Given the description of an element on the screen output the (x, y) to click on. 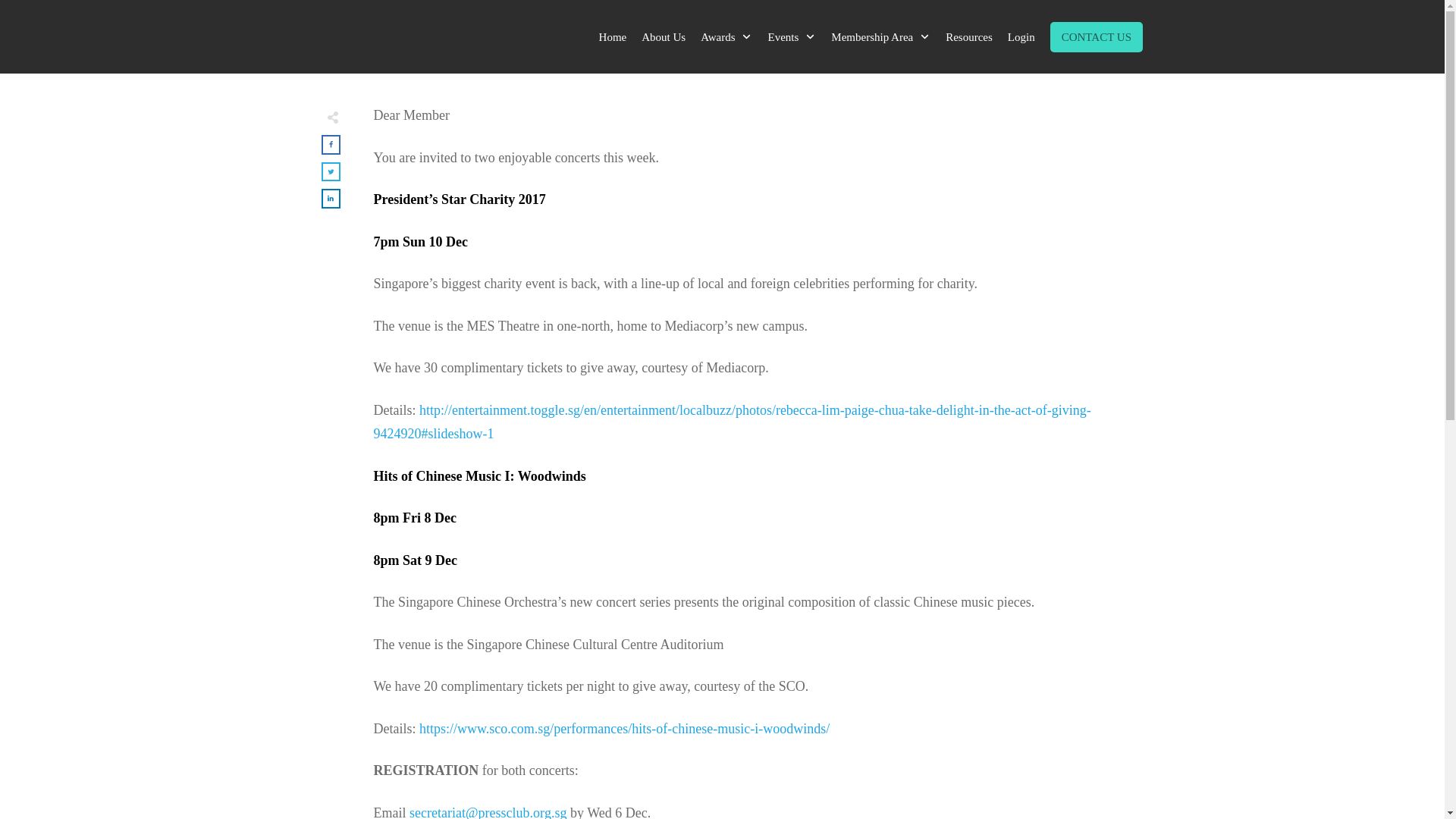
Home (612, 36)
Events (791, 36)
Membership Area (880, 36)
Awards (726, 36)
CONTACT US (1096, 36)
About Us (663, 36)
Login (1021, 36)
Resources (968, 36)
